Given the description of an element on the screen output the (x, y) to click on. 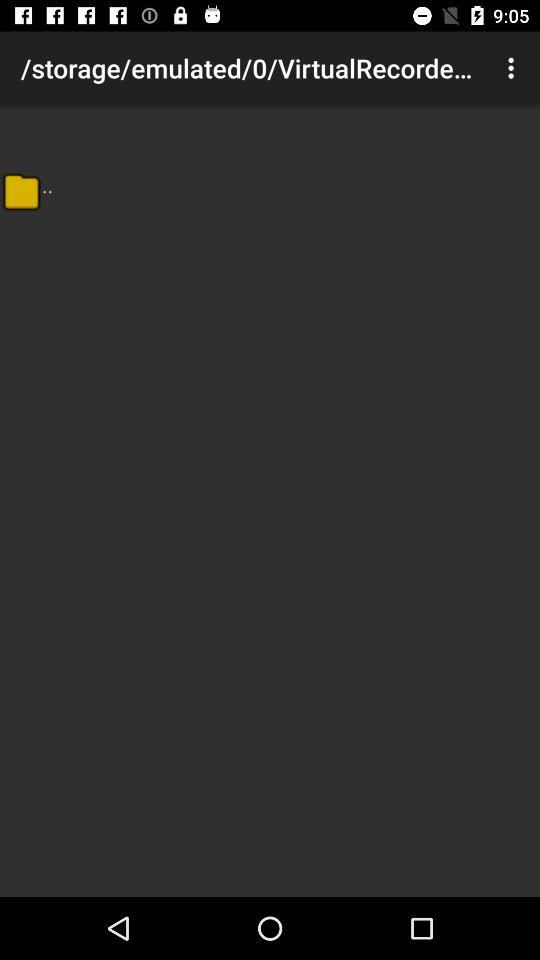
tap the item below the storage emulated 0 item (21, 191)
